Given the description of an element on the screen output the (x, y) to click on. 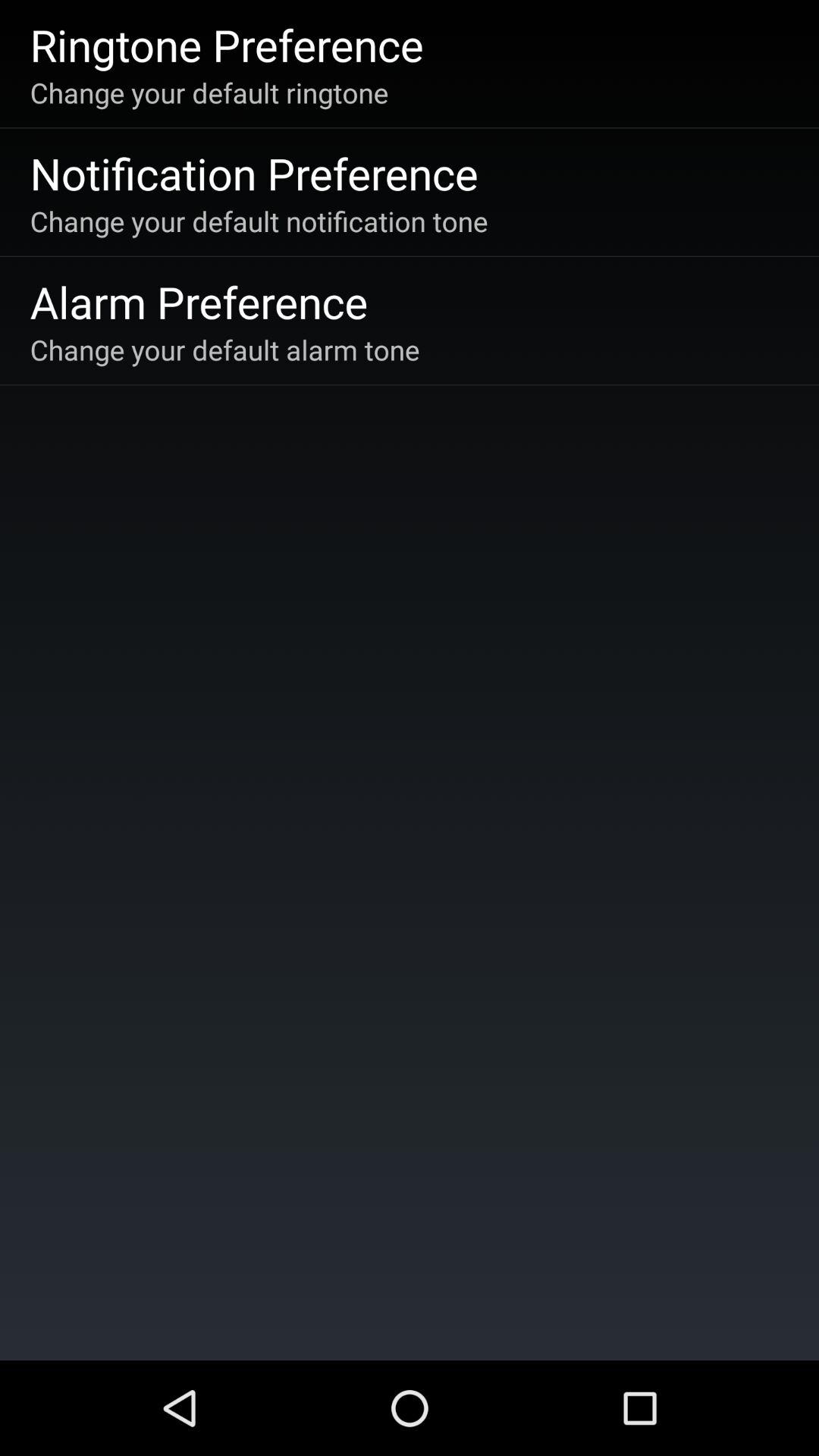
choose app above the change your default icon (254, 172)
